Given the description of an element on the screen output the (x, y) to click on. 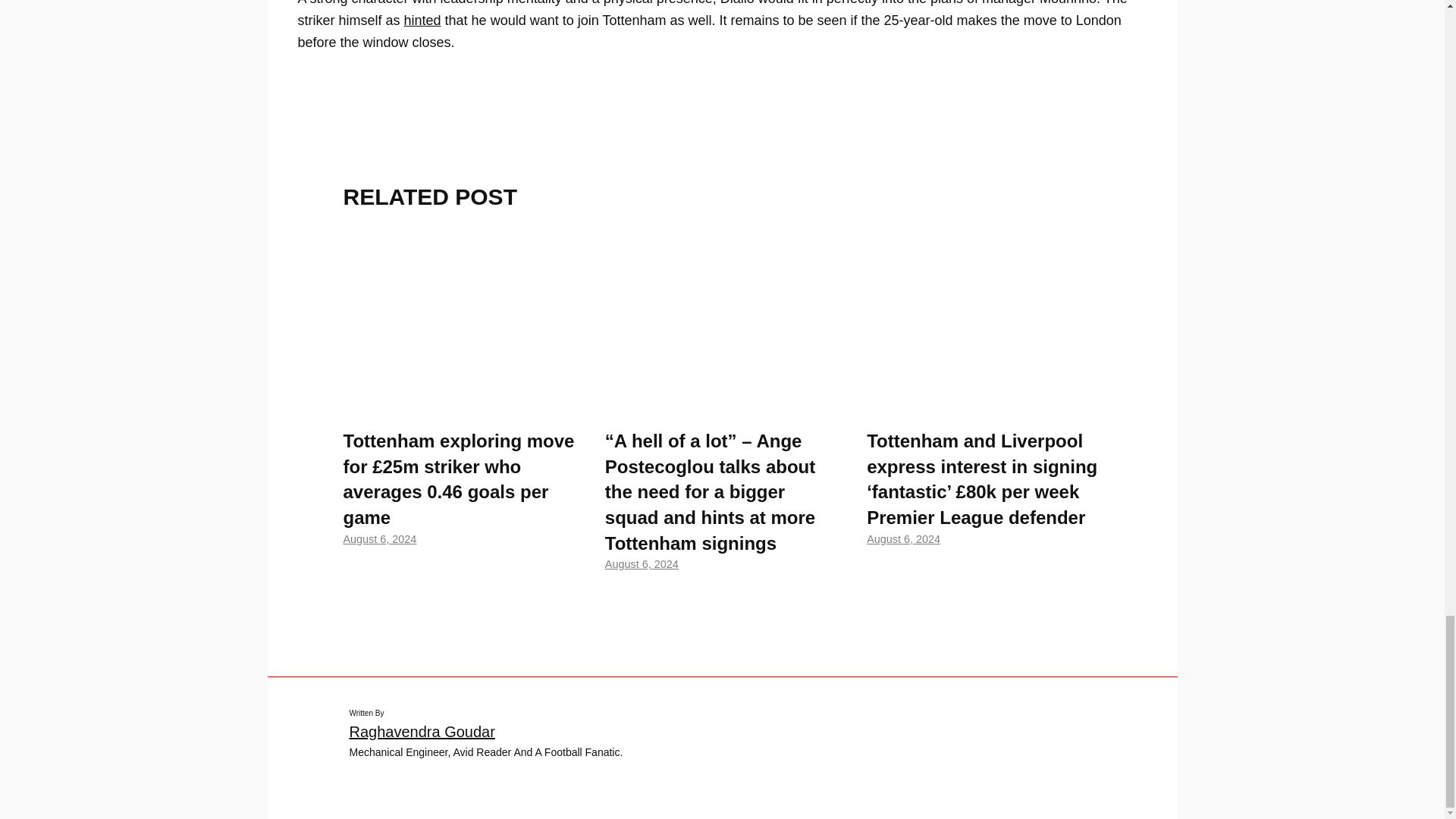
12:30 pm (903, 539)
2:30 pm (379, 539)
1:30 pm (641, 563)
